Given the description of an element on the screen output the (x, y) to click on. 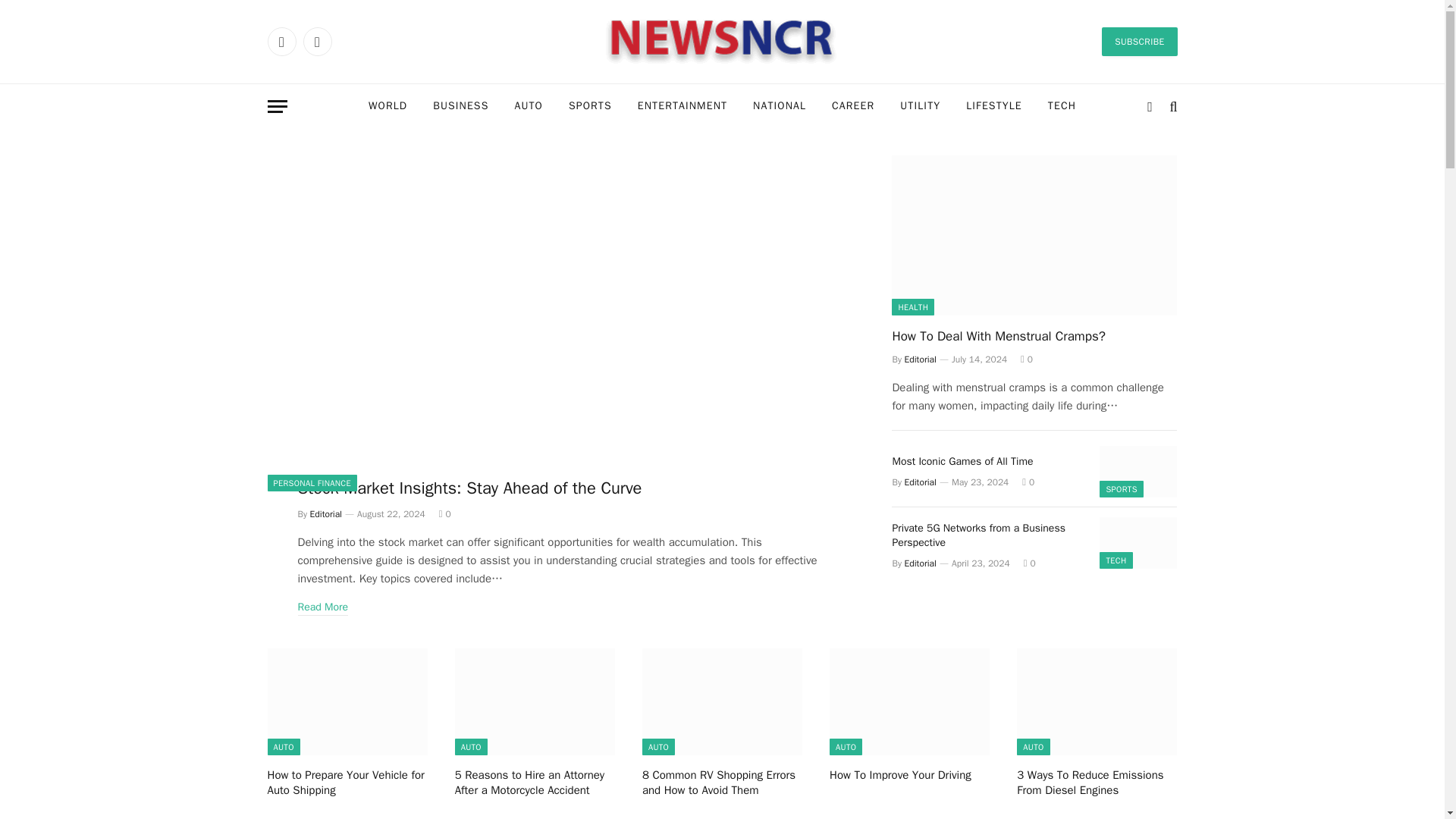
Posts by Editorial (326, 513)
UTILITY (919, 106)
LIFESTYLE (994, 106)
SPORTS (590, 106)
WORLD (387, 106)
Posts by Editorial (920, 358)
NATIONAL (778, 106)
SUBSCRIBE (1139, 41)
BUSINESS (460, 106)
